Given the description of an element on the screen output the (x, y) to click on. 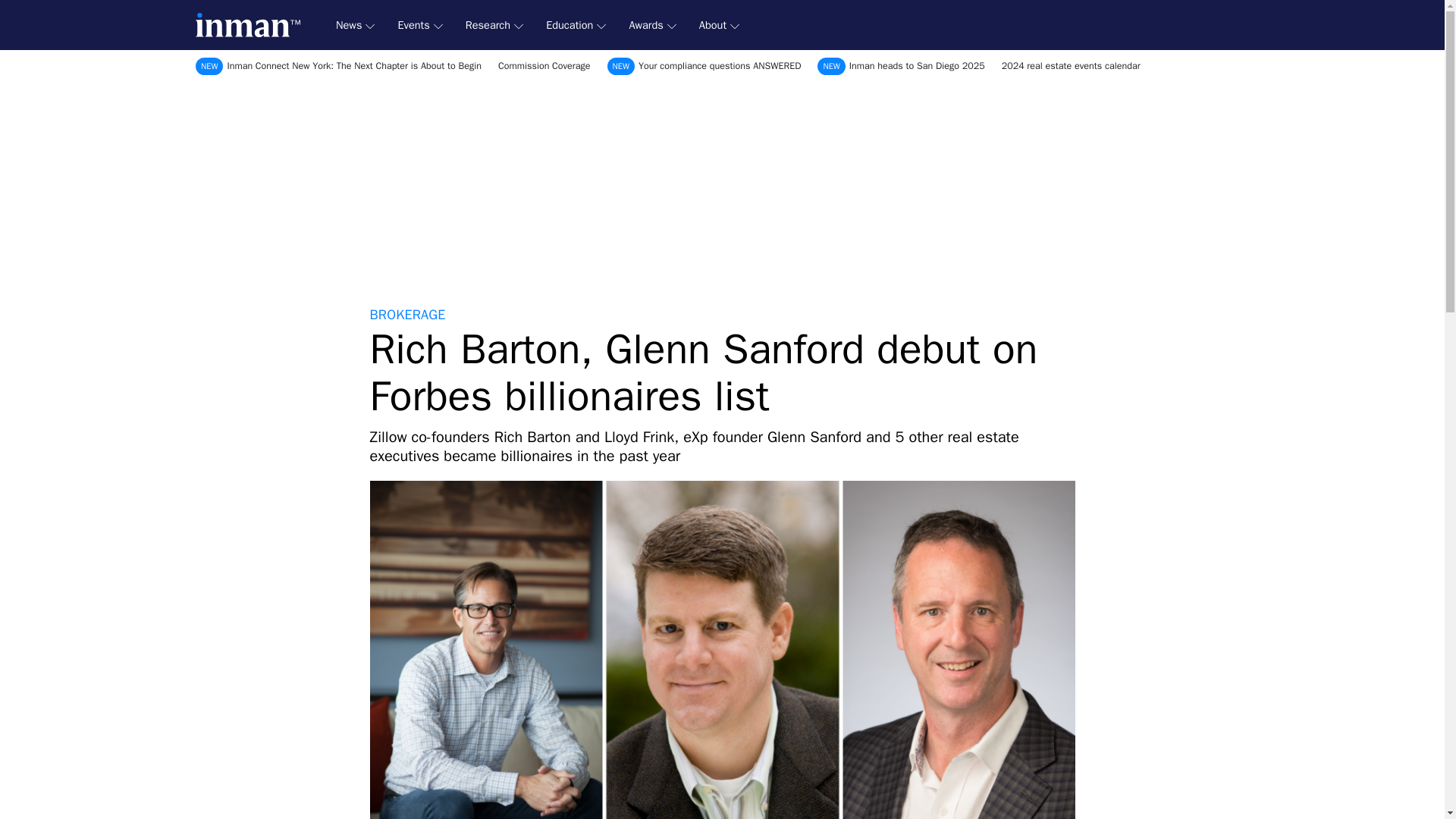
Awards (651, 25)
News (355, 25)
Education (575, 25)
Events (419, 25)
Research (493, 25)
